Given the description of an element on the screen output the (x, y) to click on. 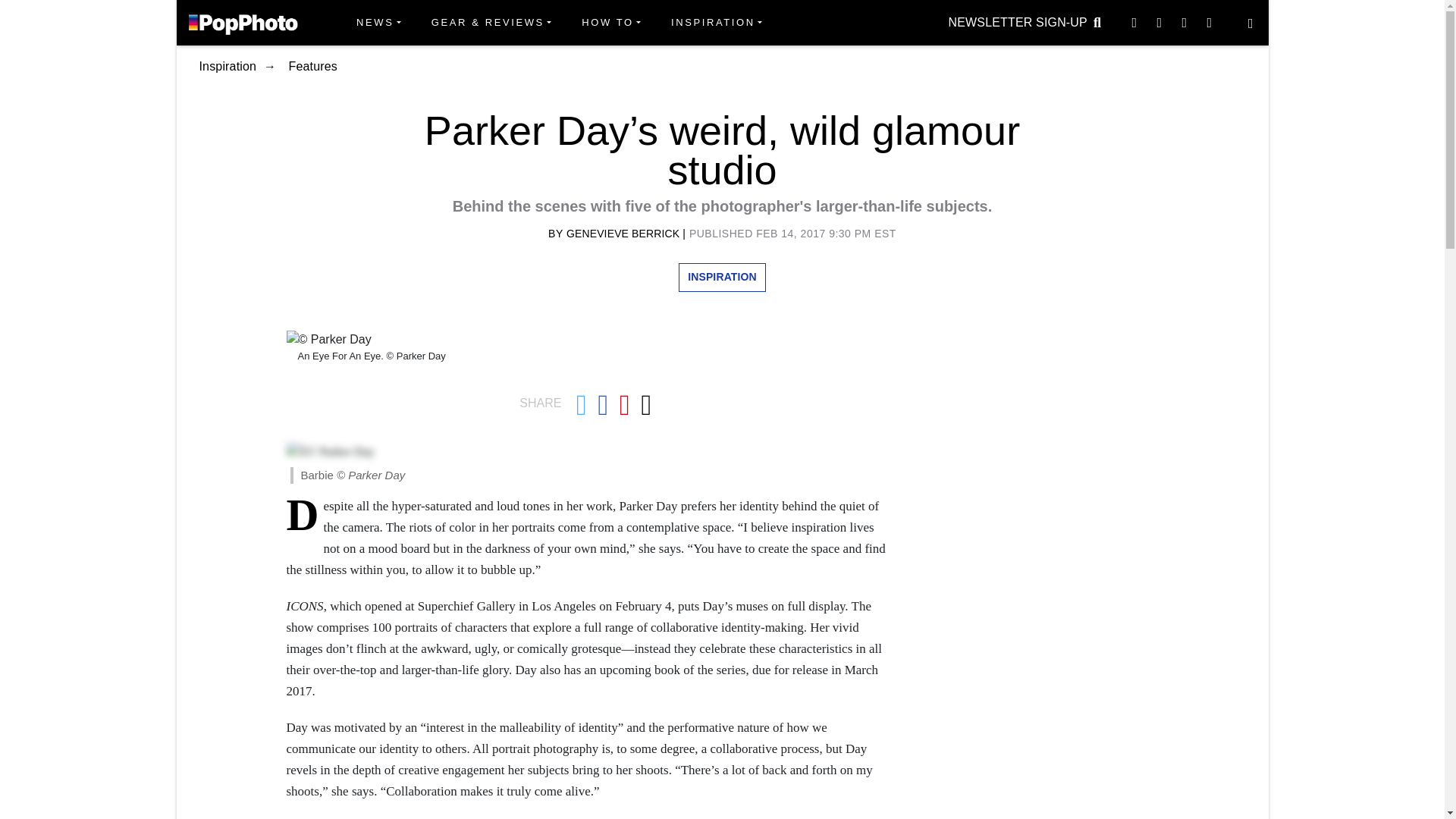
Inspiration (716, 22)
INSPIRATION (716, 22)
HOW TO (610, 22)
NEWSLETTER SIGN-UP (1018, 22)
NEWS (378, 22)
How To (610, 22)
News (378, 22)
Popular Photography (242, 22)
